Given the description of an element on the screen output the (x, y) to click on. 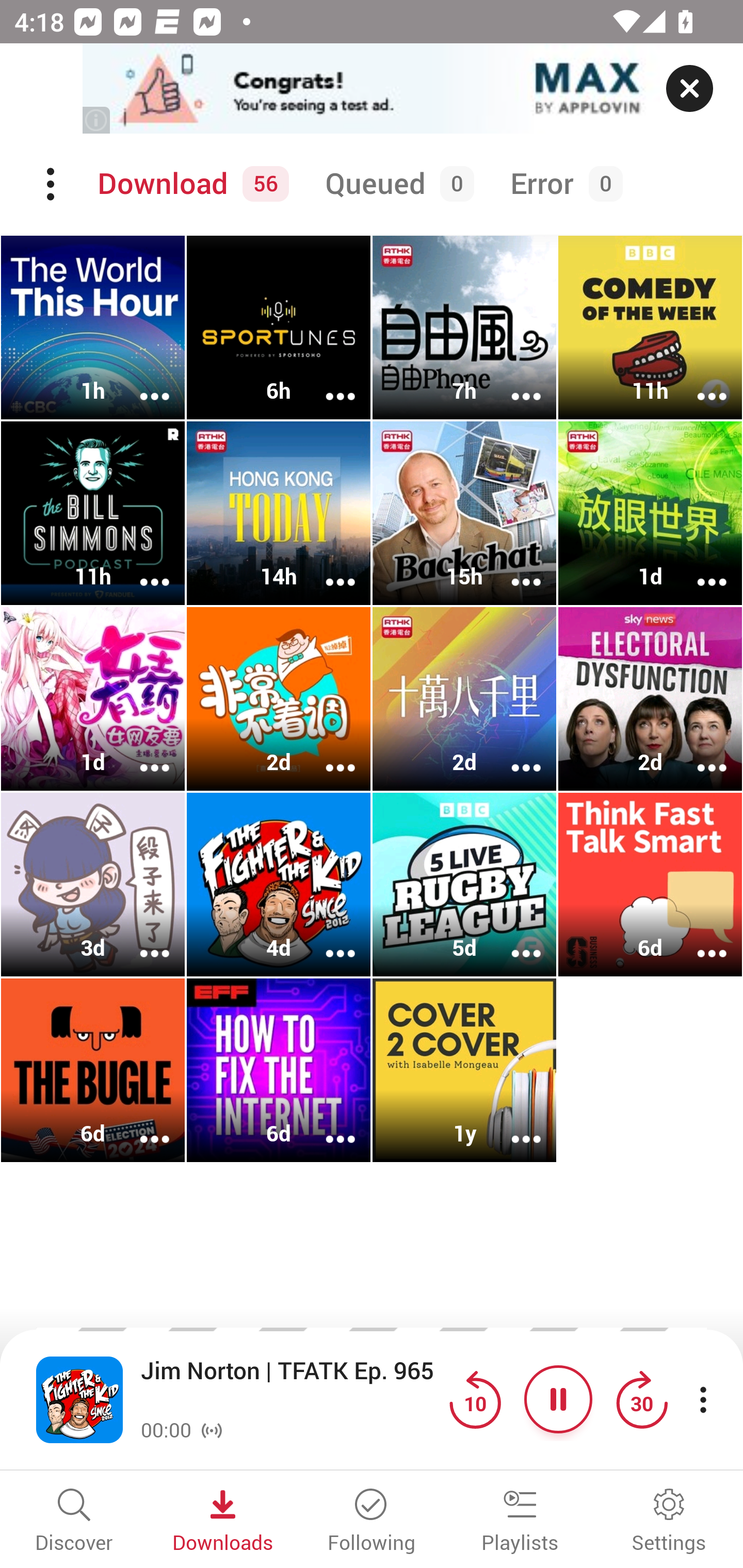
app-monetization (371, 88)
(i) (96, 119)
Menu (52, 184)
 Download 56 (189, 184)
 Queued 0 (396, 184)
 Error 0 (562, 184)
The World This Hour 1h More options More options (92, 327)
Sportunes HK 6h More options More options (278, 327)
自由风自由PHONE 7h More options More options (464, 327)
Comedy of the Week 11h More options More options (650, 327)
More options (141, 382)
More options (326, 382)
More options (512, 382)
More options (698, 382)
Hong Kong Today 14h More options More options (278, 513)
Backchat 15h More options More options (464, 513)
放眼世界 1d More options More options (650, 513)
More options (141, 569)
More options (326, 569)
More options (512, 569)
More options (698, 569)
女王有药丨爆笑脱口秀 1d More options More options (92, 698)
非常不着调 2d More options More options (278, 698)
十萬八千里 2d More options More options (464, 698)
Electoral Dysfunction 2d More options More options (650, 698)
More options (141, 754)
More options (326, 754)
More options (512, 754)
More options (698, 754)
段子来了 3d More options More options (92, 883)
The Fighter & The Kid 4d More options More options (278, 883)
5 Live Rugby League 5d More options More options (464, 883)
More options (141, 940)
More options (326, 940)
More options (512, 940)
More options (698, 940)
The Bugle 6d More options More options (92, 1069)
Cover 2 Cover 1y More options More options (464, 1069)
More options (141, 1125)
More options (326, 1125)
More options (512, 1125)
Open fullscreen player (79, 1399)
More player controls (703, 1399)
Jim Norton | TFATK Ep. 965 (290, 1385)
Pause button (558, 1398)
Jump back (475, 1399)
Jump forward (641, 1399)
Discover (74, 1521)
Downloads (222, 1521)
Following (371, 1521)
Playlists (519, 1521)
Settings (668, 1521)
